Given the description of an element on the screen output the (x, y) to click on. 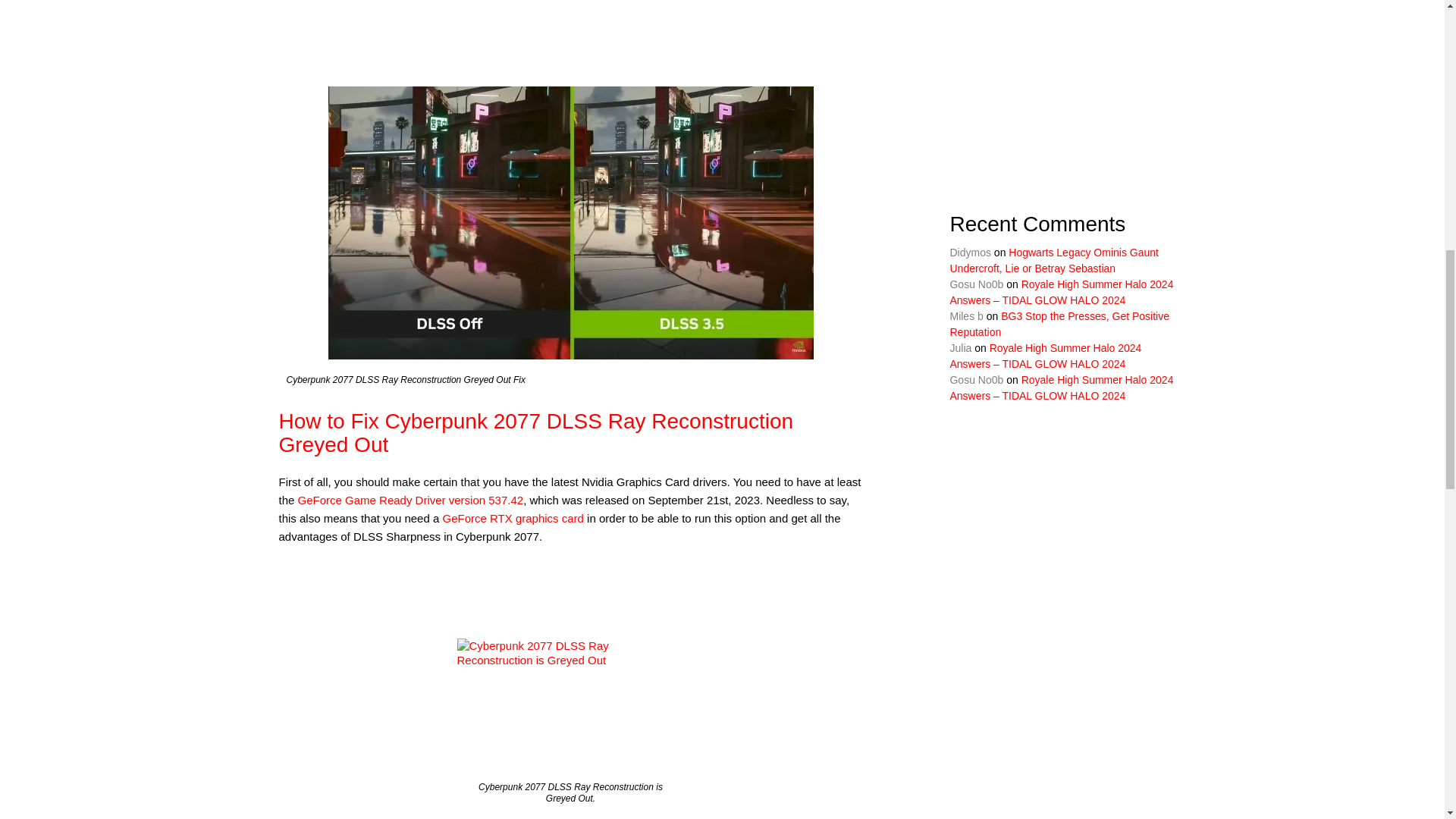
GeForce RTX graphics card (512, 517)
BG3 Stop the Presses, Get Positive Reputation (1059, 324)
GeForce Game Ready Driver version 537.42 (411, 499)
